Given the description of an element on the screen output the (x, y) to click on. 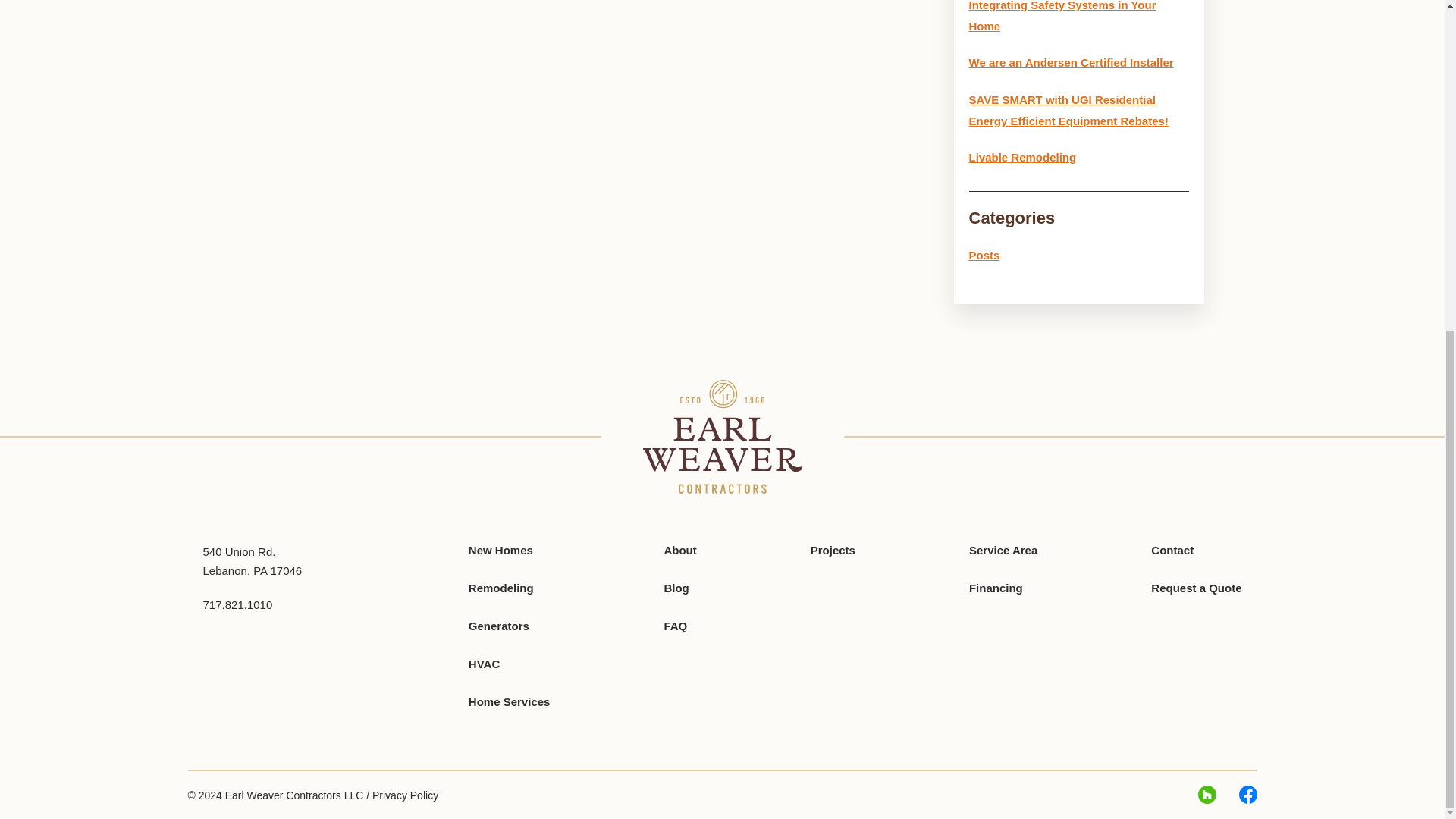
Remodeling (501, 587)
About (679, 549)
New Homes (500, 549)
Generators (498, 625)
Integrating Safety Systems in Your Home (1062, 16)
Request a Quote (1196, 587)
Financing (996, 587)
FAQ (675, 625)
Home Services (509, 701)
